Given the description of an element on the screen output the (x, y) to click on. 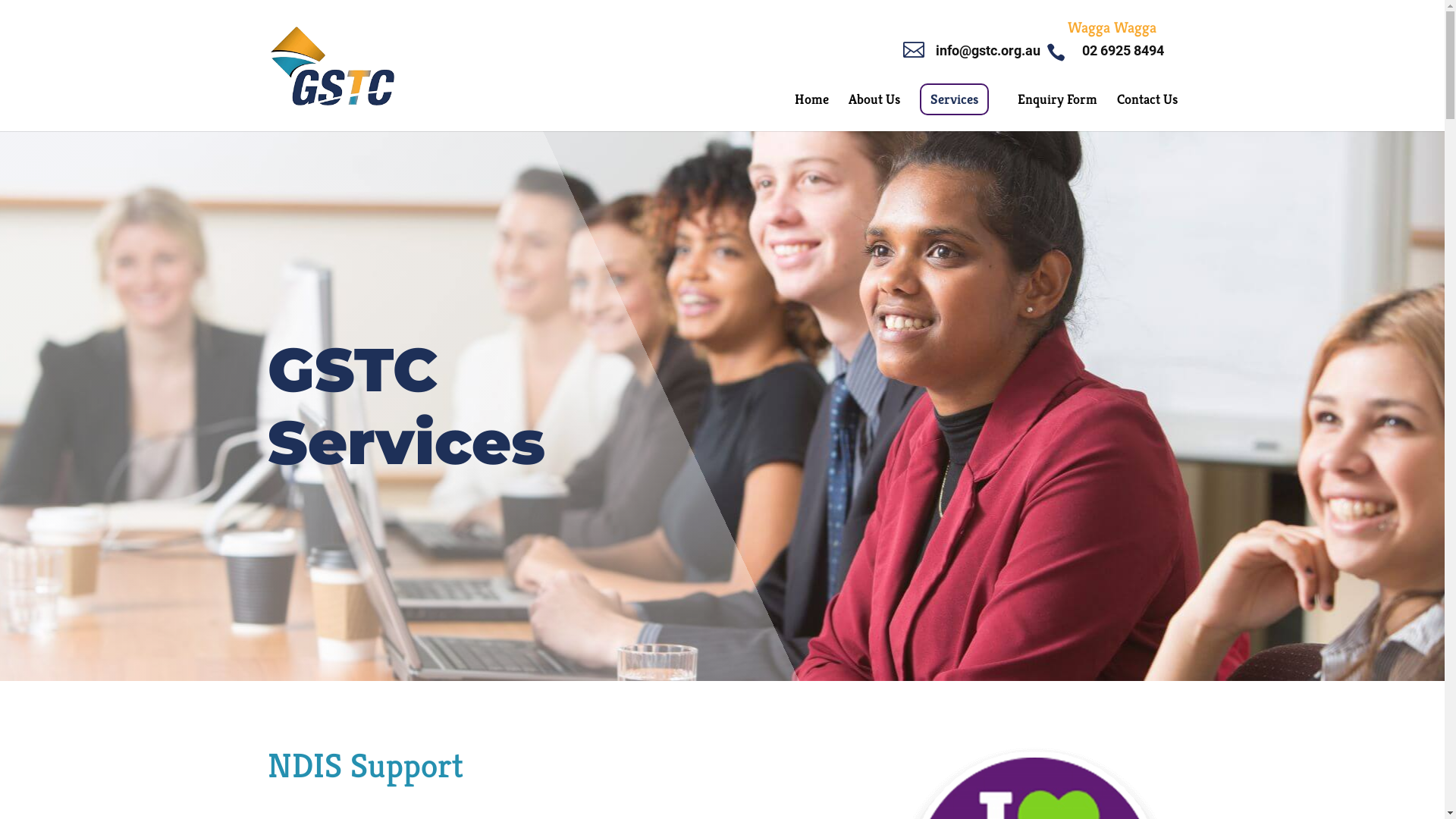
About Us Element type: text (873, 112)
Services Element type: text (953, 99)
Home Element type: text (811, 112)
Contact Us Element type: text (1146, 112)
Enquiry Form Element type: text (1057, 112)
